Given the description of an element on the screen output the (x, y) to click on. 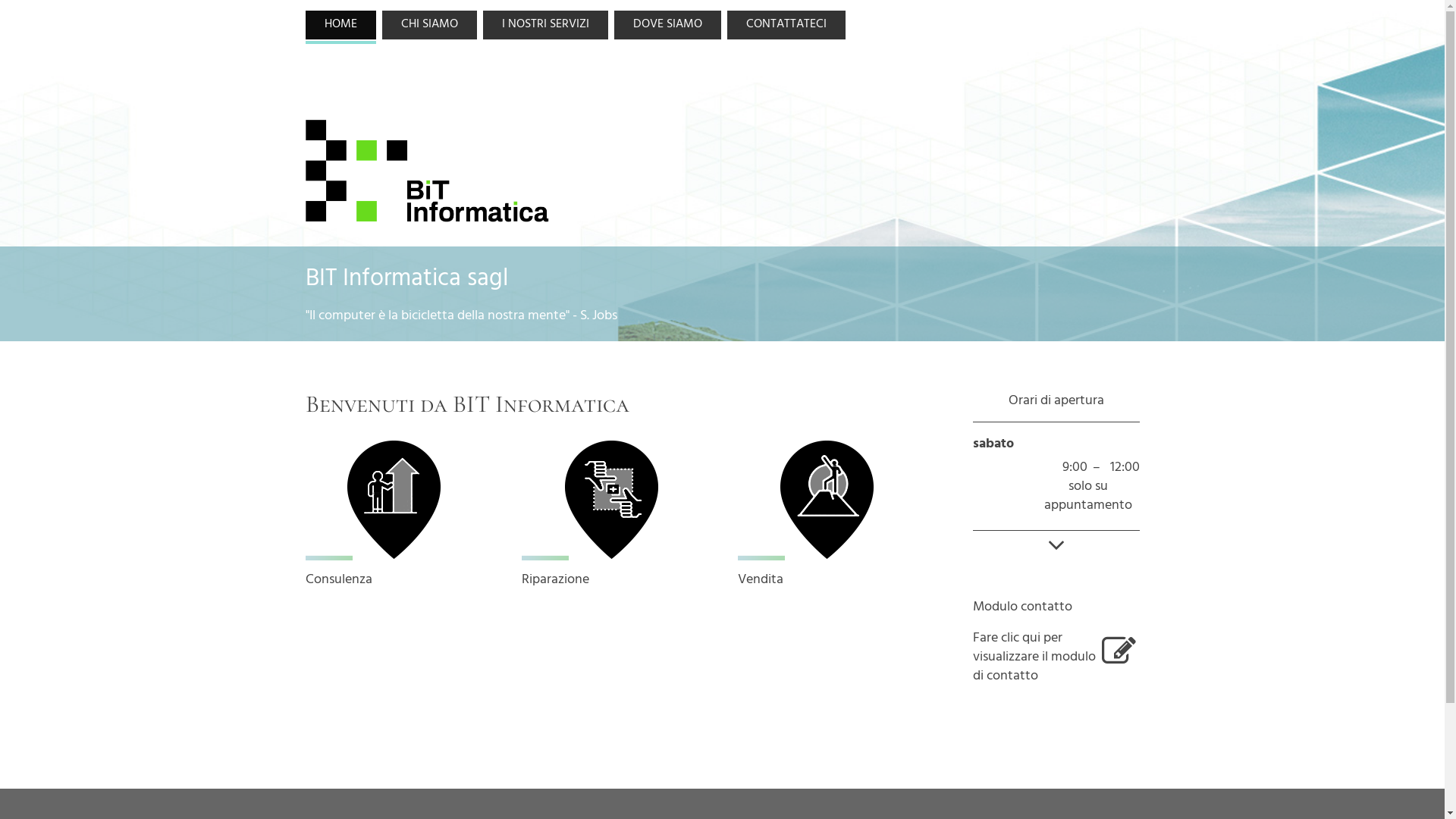
DOVE SIAMO Element type: text (667, 24)
HOME Element type: text (339, 24)
CONTATTATECI Element type: text (785, 24)
CHI SIAMO Element type: text (429, 24)
I NOSTRI SERVIZI Element type: text (544, 24)
Fare clic qui per visualizzare il modulo di contatto Element type: text (1055, 658)
